Given the description of an element on the screen output the (x, y) to click on. 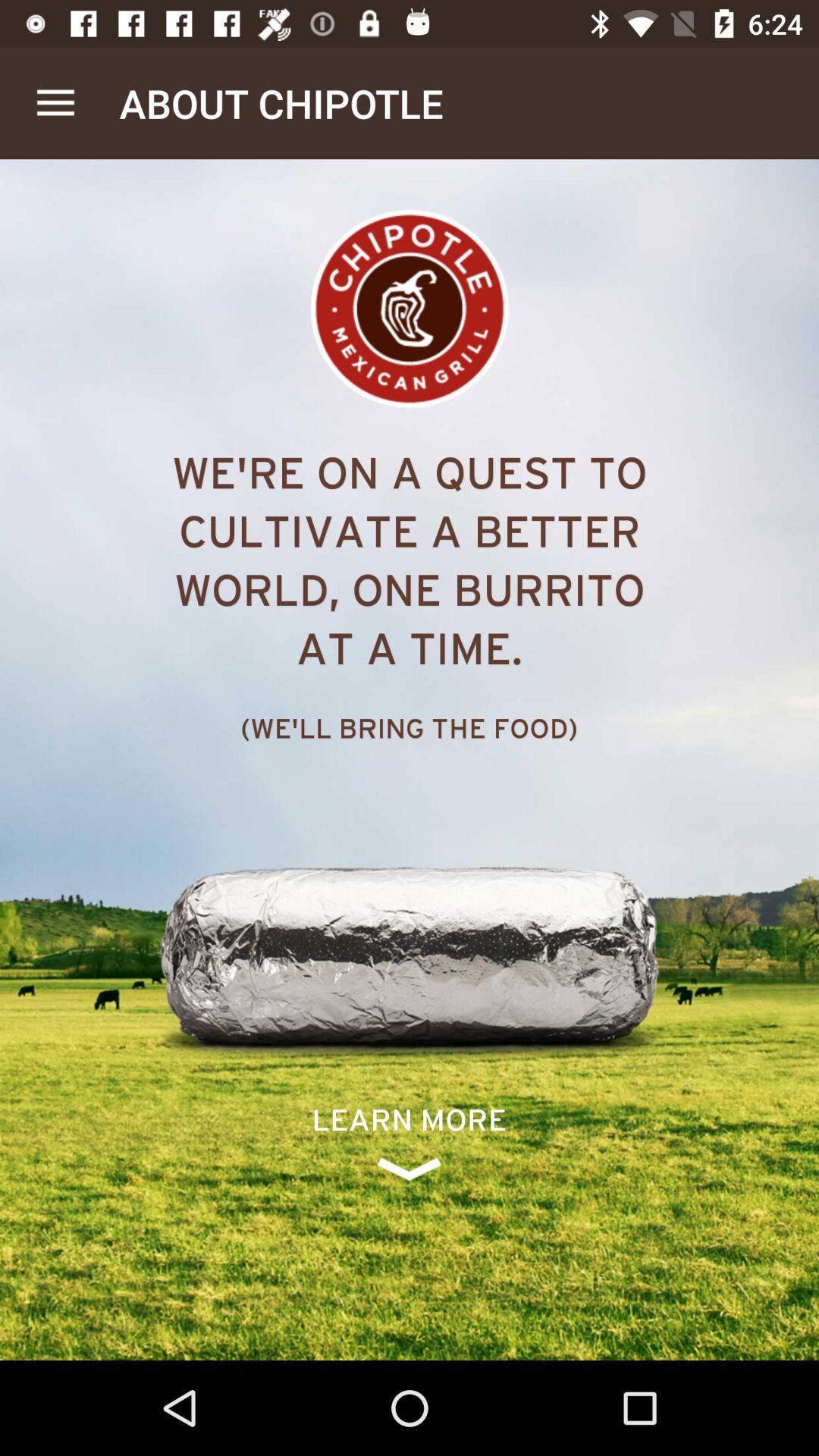
launch the learn more item (408, 1141)
